Given the description of an element on the screen output the (x, y) to click on. 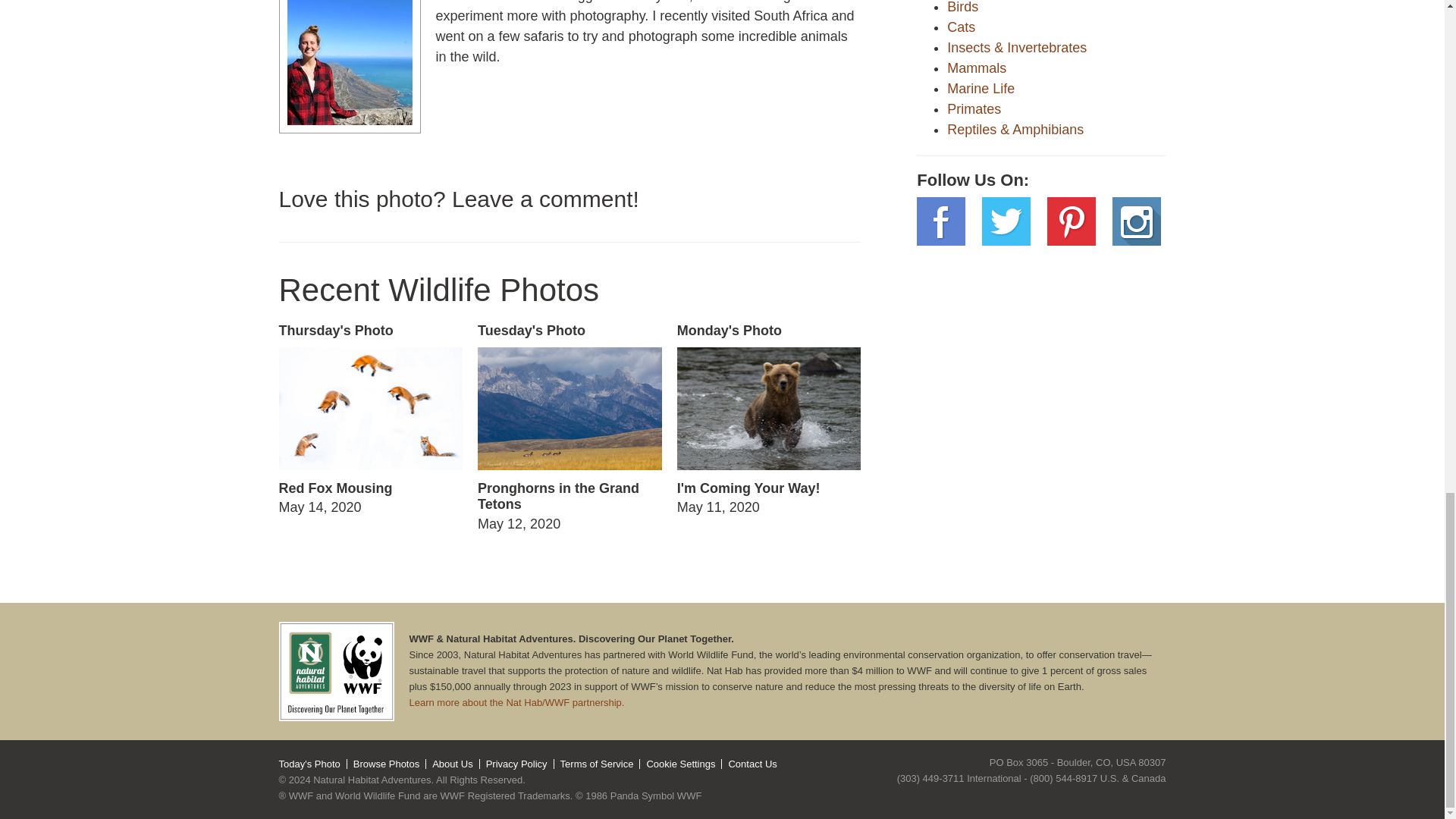
Birds (370, 419)
Mammals (962, 7)
Cats (769, 419)
Marine Life (976, 68)
Primates (961, 27)
